Given the description of an element on the screen output the (x, y) to click on. 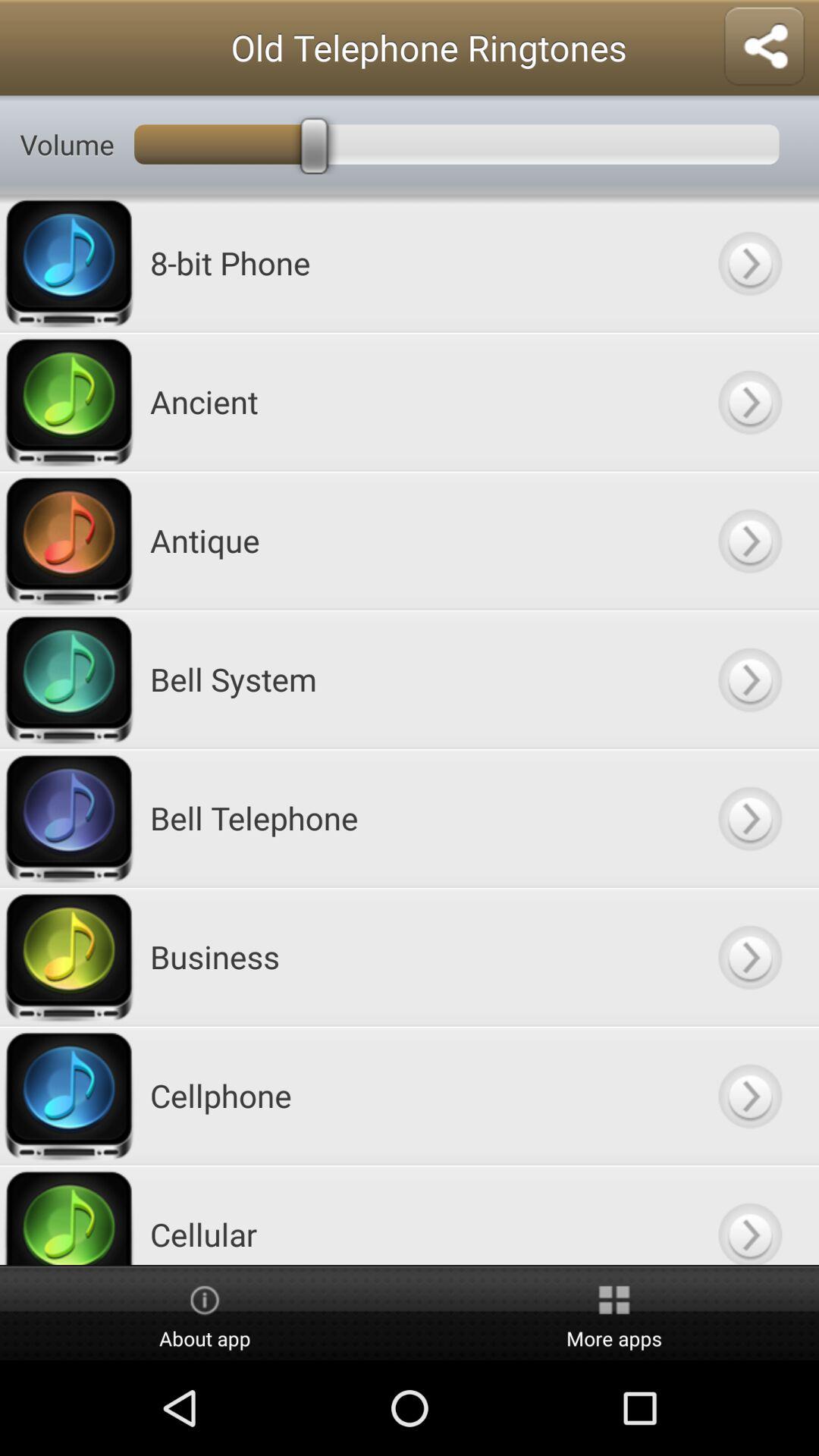
go to button (749, 401)
